Given the description of an element on the screen output the (x, y) to click on. 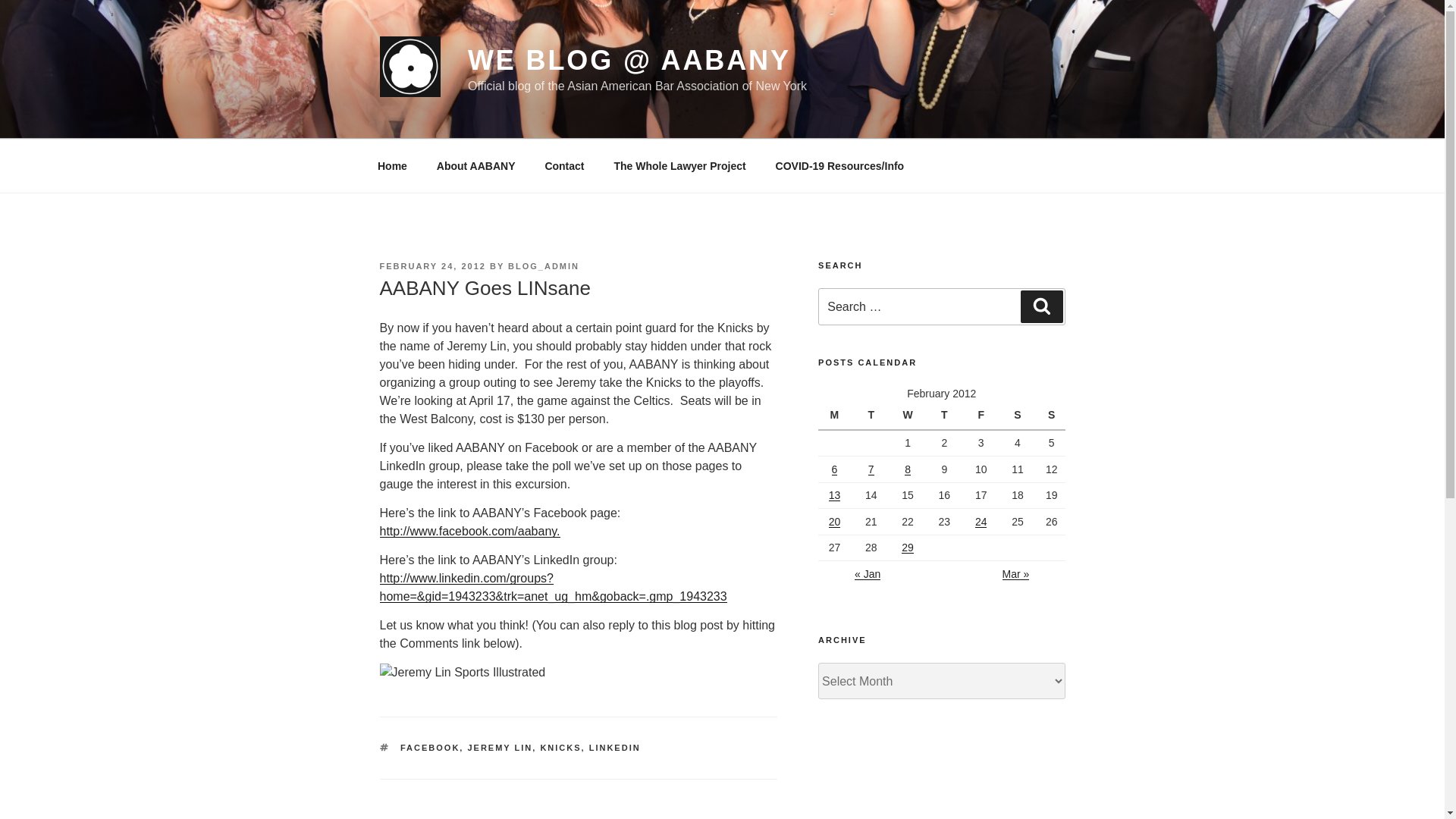
KNICKS (560, 747)
Contact (563, 165)
About AABANY (475, 165)
Sunday (1051, 415)
20 (834, 521)
FEBRUARY 24, 2012 (431, 266)
29 (907, 547)
FACEBOOK (430, 747)
Monday (836, 415)
JEREMY LIN (499, 747)
13 (834, 494)
Home (392, 165)
Tuesday (872, 415)
Wednesday (909, 415)
Saturday (1019, 415)
